Given the description of an element on the screen output the (x, y) to click on. 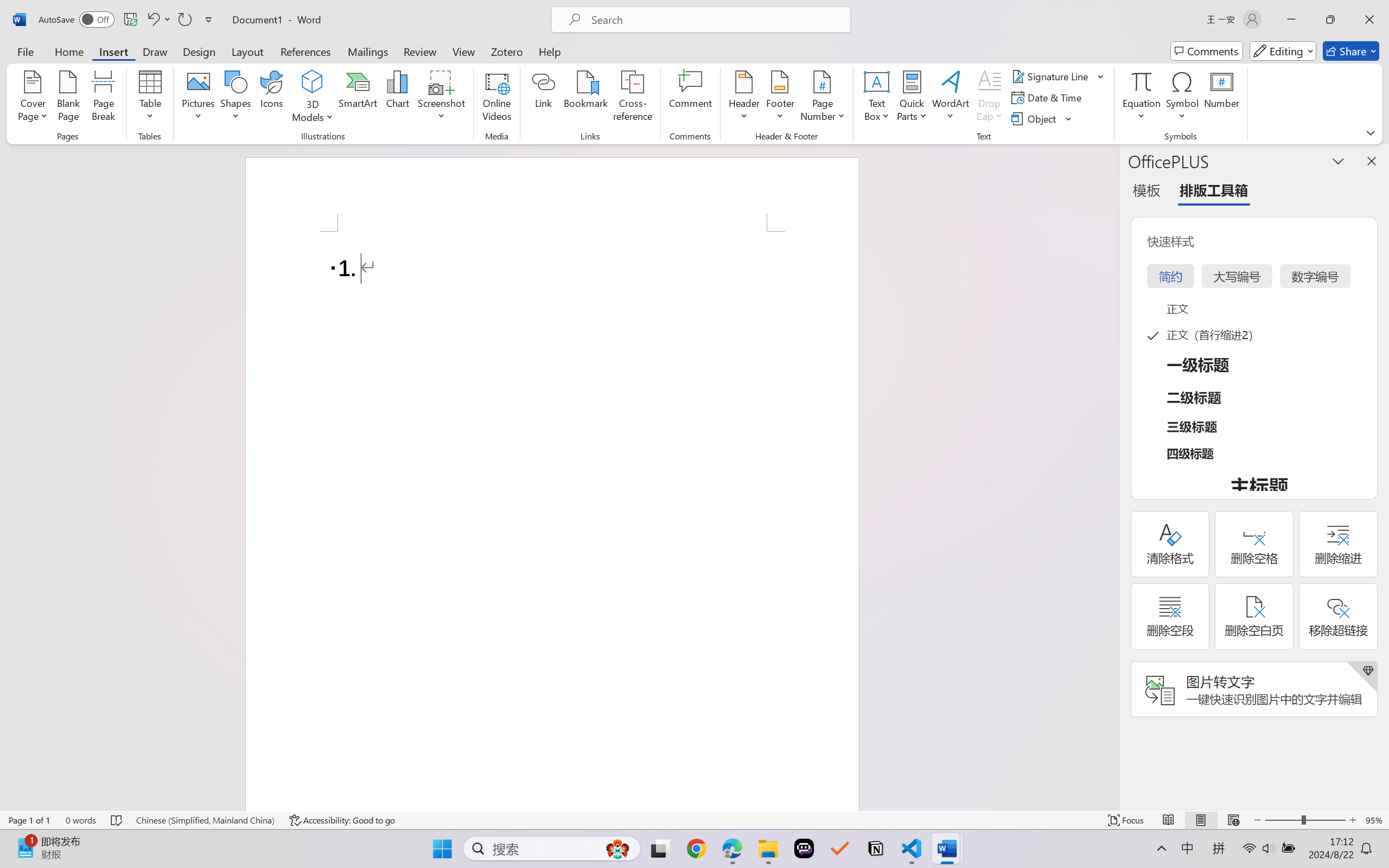
Table (149, 97)
Cross-reference... (632, 97)
Date & Time... (1048, 97)
Page Number (822, 97)
